Given the description of an element on the screen output the (x, y) to click on. 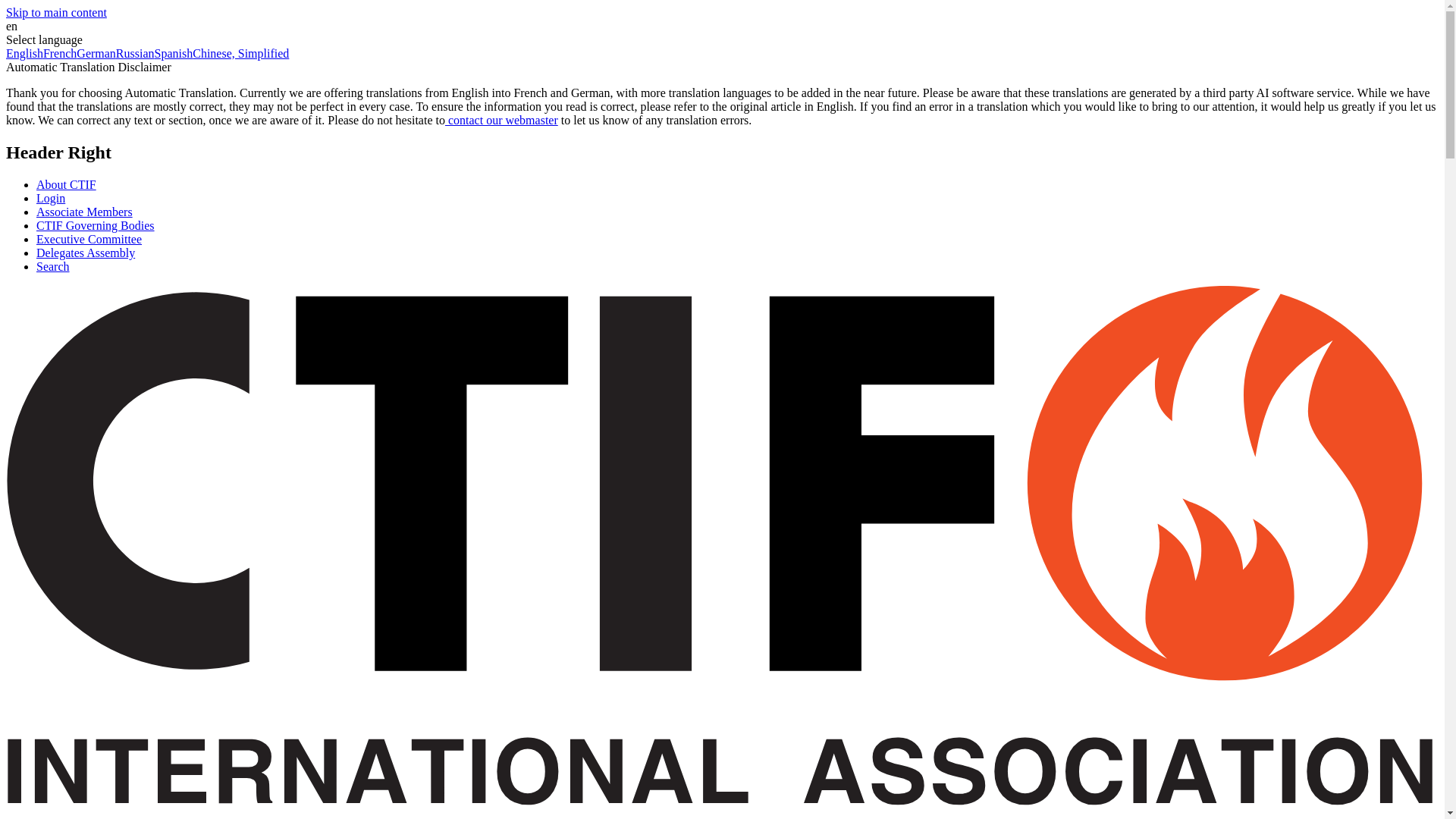
Delegates Assembly (85, 252)
About CTIF (66, 184)
Spanish (173, 52)
Associate Members (84, 211)
Russian (135, 52)
Login (50, 197)
German (96, 52)
contact our webmaster (501, 119)
Search (52, 266)
Executive Committee (88, 238)
